Given the description of an element on the screen output the (x, y) to click on. 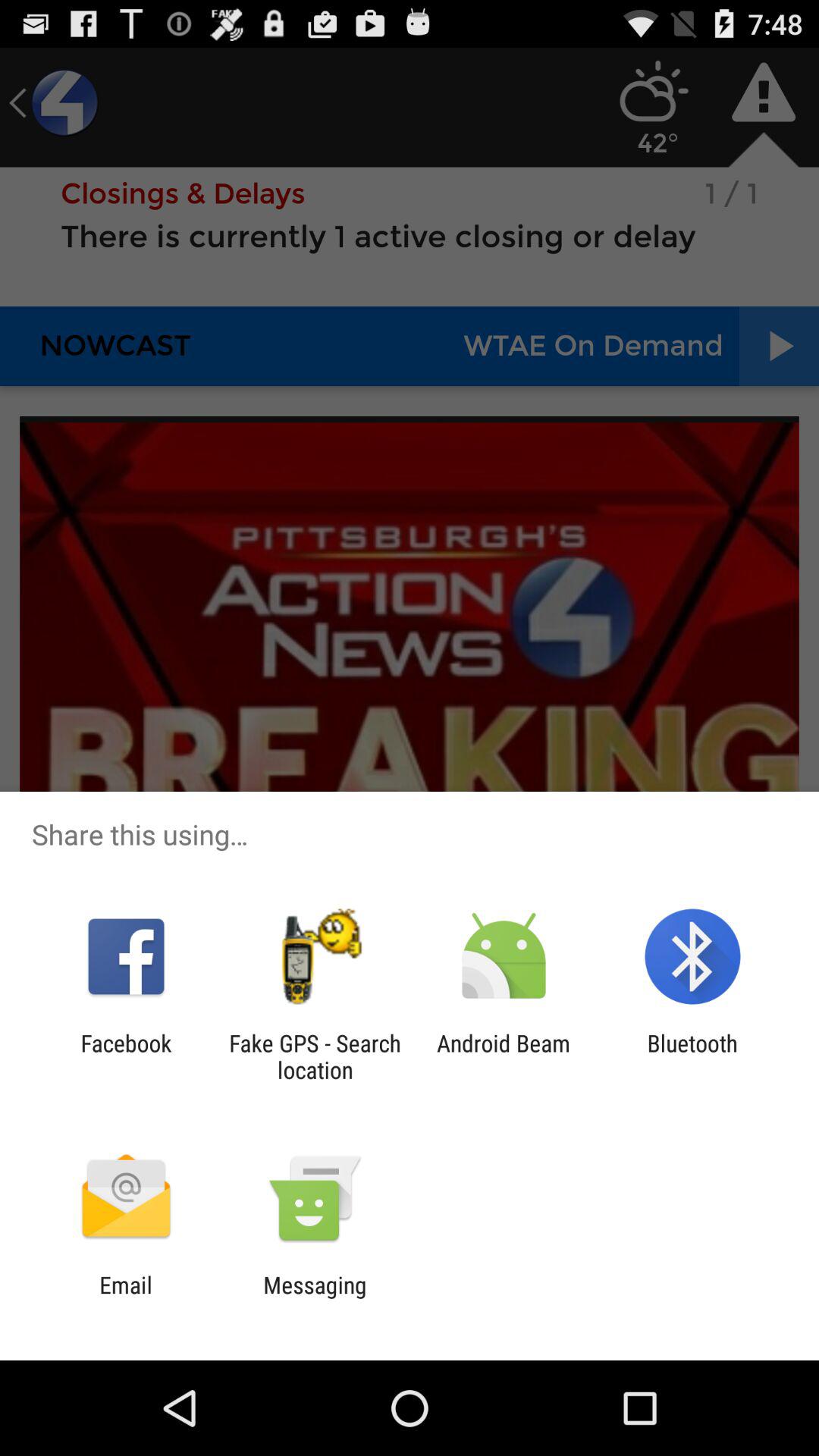
click fake gps search app (314, 1056)
